Given the description of an element on the screen output the (x, y) to click on. 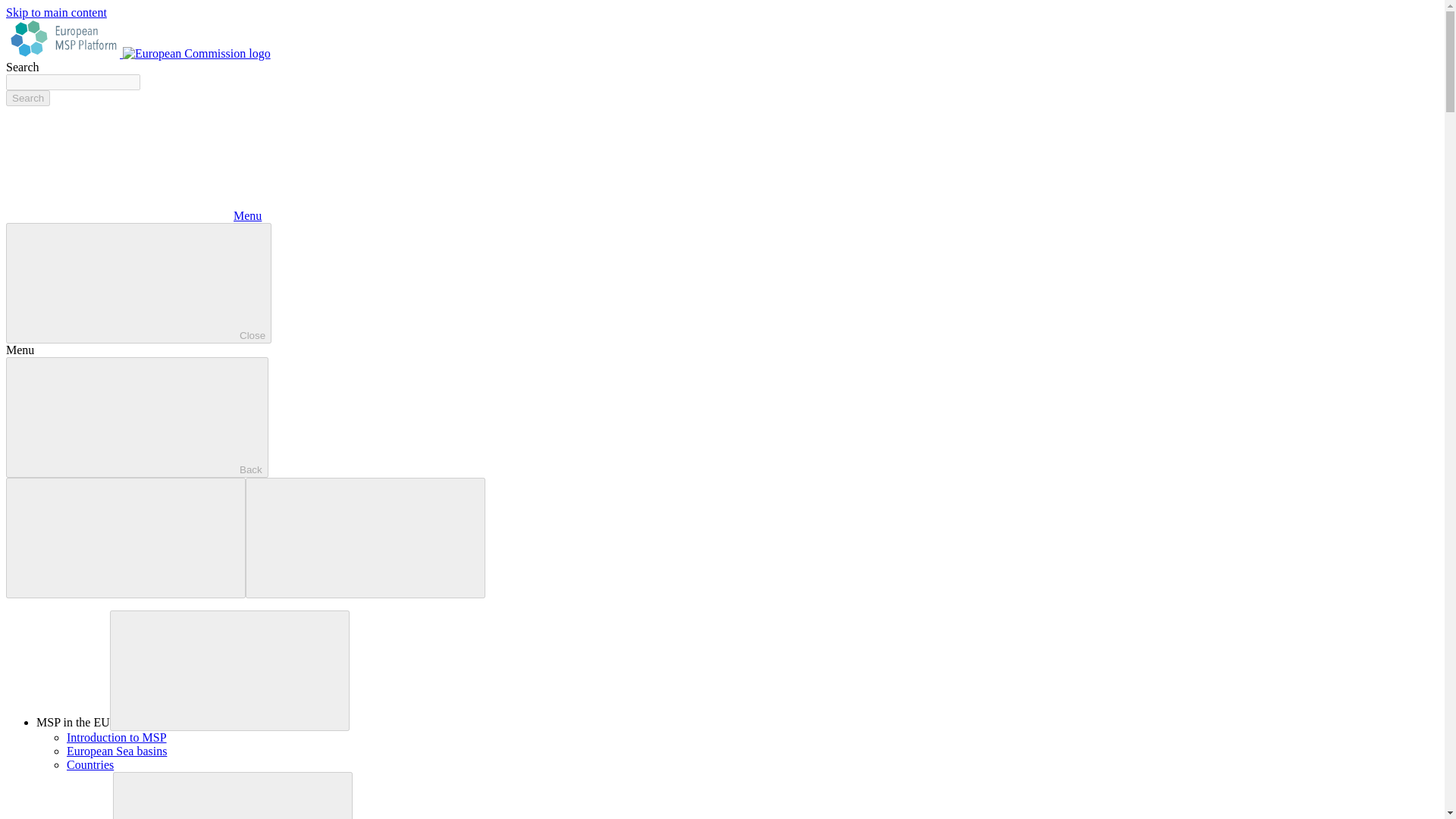
Home (63, 52)
Close (137, 282)
Countries (89, 764)
Skip to main content (55, 11)
Menu (133, 215)
European Sea basins (116, 750)
Search (27, 98)
Back (136, 417)
Introduction to MSP (116, 737)
European Commission (196, 53)
